Given the description of an element on the screen output the (x, y) to click on. 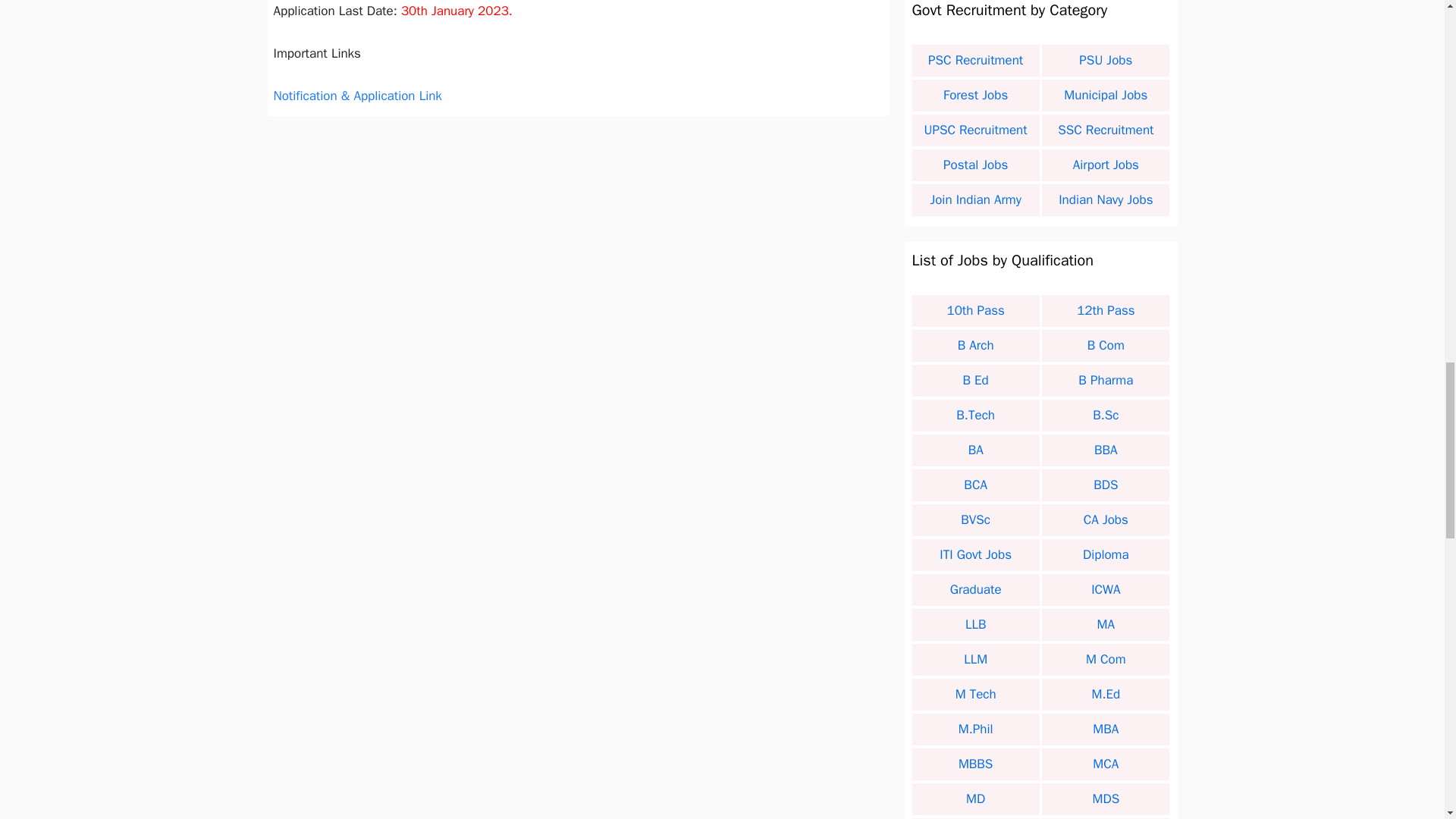
Higher Secondary Certificate (1105, 310)
Bachelor of Architecture (975, 346)
Bachelor of Education (975, 380)
Bachelor of Commerce (1105, 346)
Secondary School Certificate (975, 310)
Bachelor of Pharmacy (1105, 380)
